Given the description of an element on the screen output the (x, y) to click on. 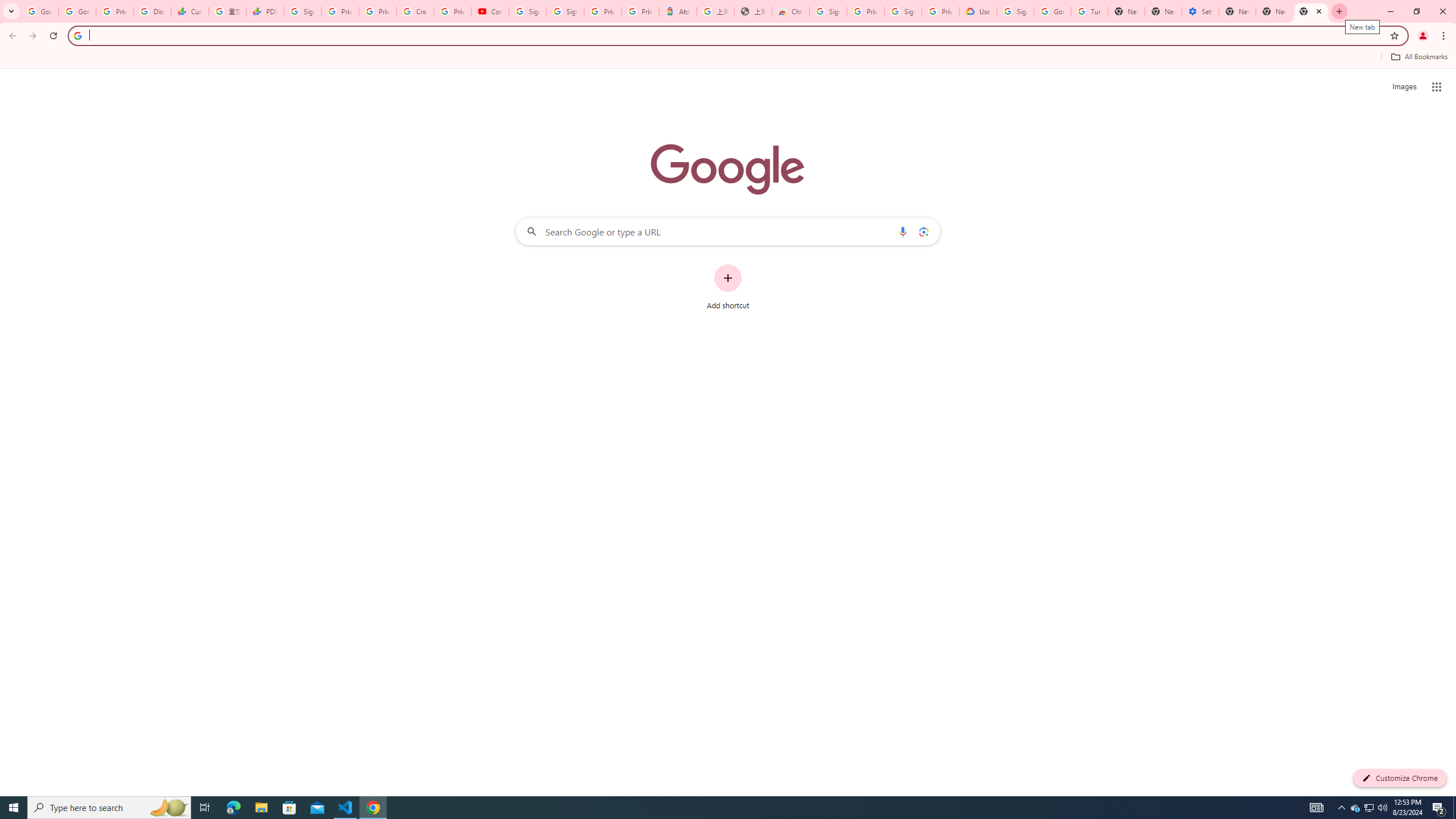
Search Google or type a URL (727, 230)
Sign in - Google Accounts (527, 11)
Search for Images  (1403, 87)
Sign in - Google Accounts (302, 11)
Content Creator Programs & Opportunities - YouTube Creators (489, 11)
Atour Hotel - Google hotels (677, 11)
Turn cookies on or off - Computer - Google Account Help (1088, 11)
